Given the description of an element on the screen output the (x, y) to click on. 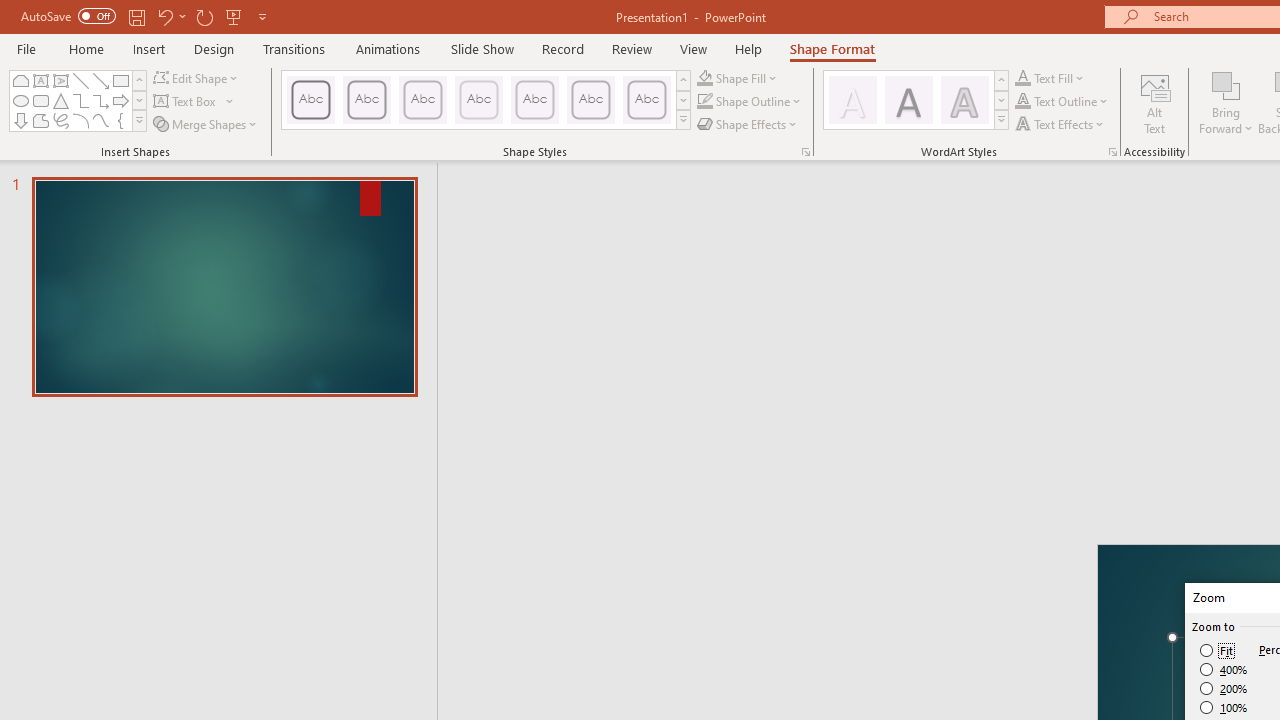
400% (1224, 669)
